Given the description of an element on the screen output the (x, y) to click on. 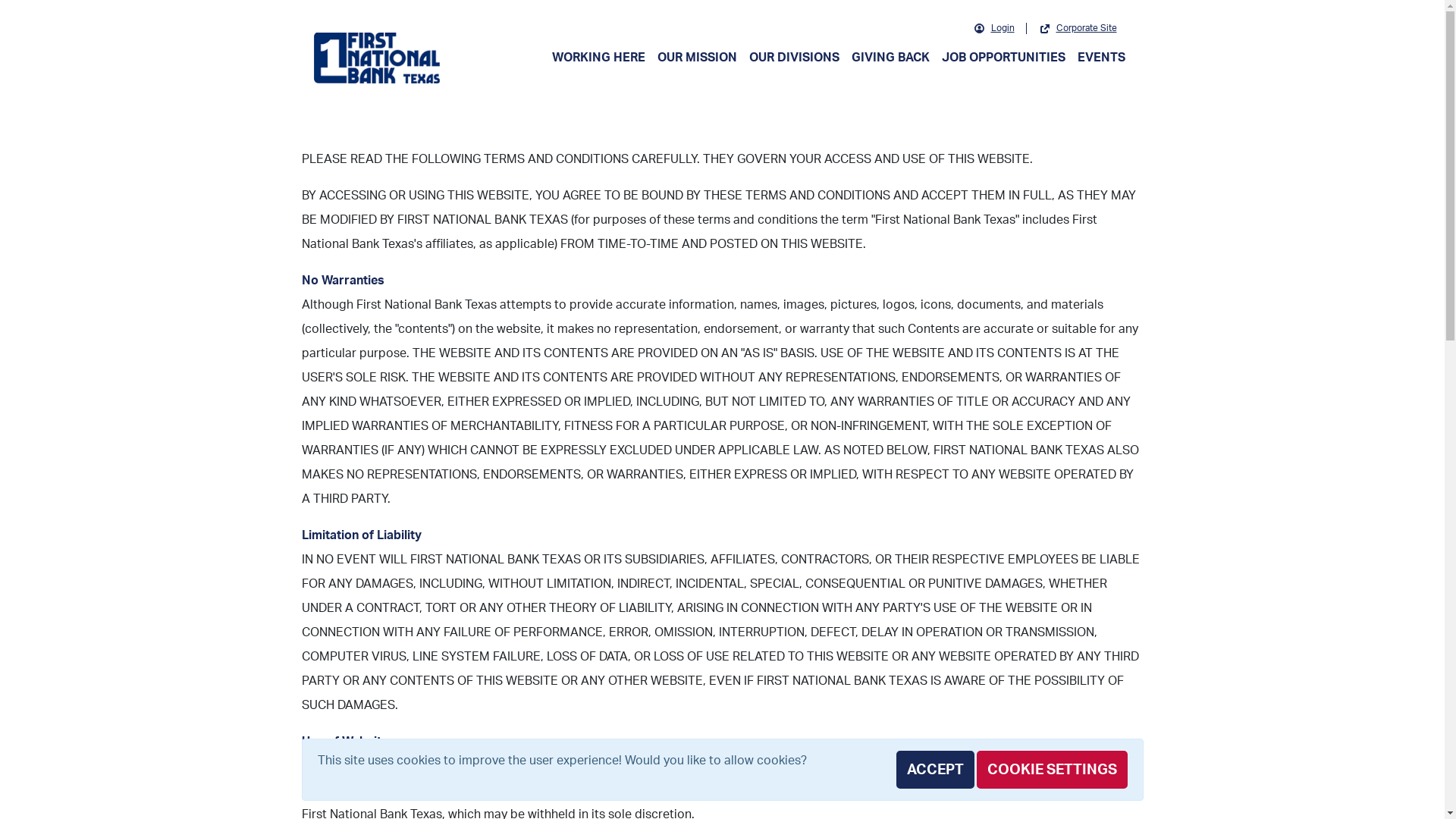
COOKIE SETTINGS Element type: text (1051, 769)
OUR MISSION Element type: text (696, 57)
WORKING HERE Element type: text (598, 57)
GIVING BACK Element type: text (889, 57)
EVENTS Element type: text (1100, 57)
ACCEPT Element type: text (935, 769)
JOB OPPORTUNITIES Element type: text (1003, 57)
Corporate Site Element type: text (1077, 28)
Login Element type: text (994, 28)
OUR DIVISIONS Element type: text (794, 57)
